Given the description of an element on the screen output the (x, y) to click on. 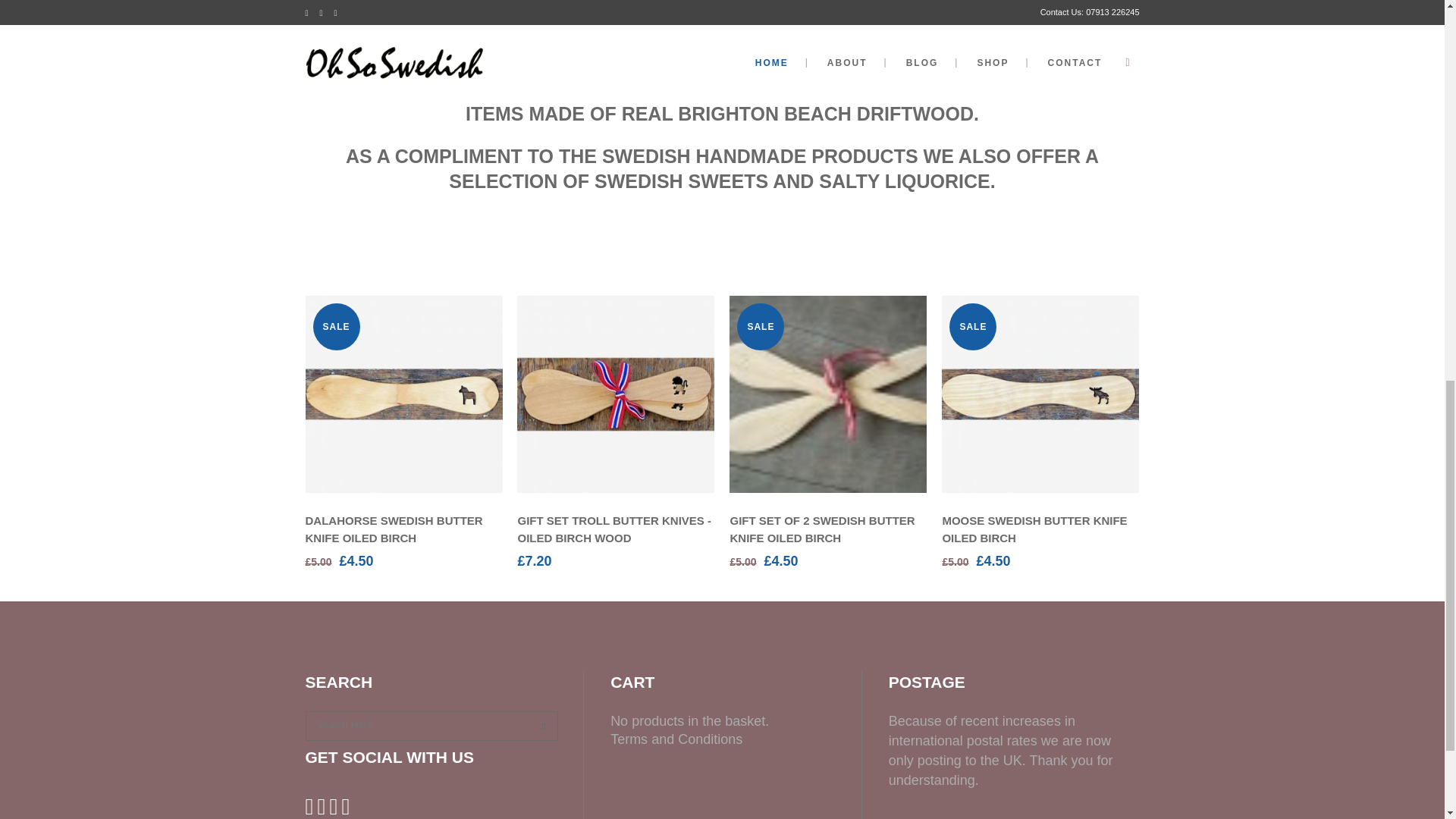
SALE (1040, 394)
SALE (403, 394)
SALE (827, 394)
